Given the description of an element on the screen output the (x, y) to click on. 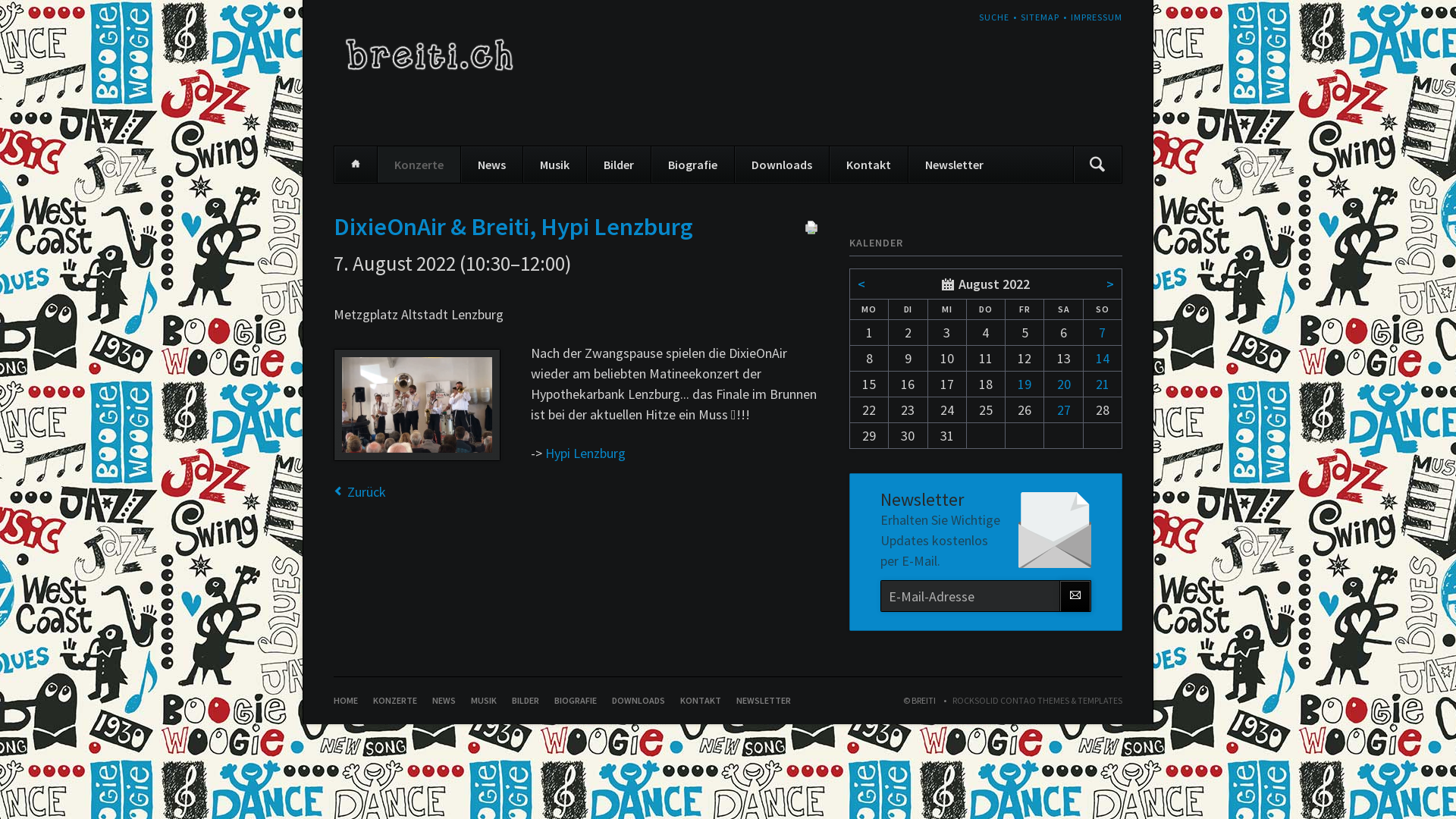
Diese Seite drucken Element type: hover (811, 229)
HOME Element type: text (345, 700)
KONTAKT Element type: text (700, 700)
Hypi Lenzburg Element type: text (585, 452)
7 Element type: text (1101, 332)
< Element type: text (861, 283)
Kontakt Element type: text (867, 164)
19 Element type: text (1024, 383)
Bilder Element type: text (618, 164)
MUSIK Element type: text (483, 700)
KONZERTE Element type: text (395, 700)
Suchen Element type: text (1097, 164)
Musik Element type: text (554, 164)
NEWS Element type: text (443, 700)
News Element type: text (491, 164)
BILDER Element type: text (525, 700)
27 Element type: text (1063, 409)
DOWNLOADS Element type: text (638, 700)
Home Element type: hover (355, 164)
Konzerte Element type: text (418, 164)
BIOGRAFIE Element type: text (575, 700)
SUCHE Element type: text (994, 16)
> Element type: text (1109, 283)
IMPRESSUM Element type: text (1096, 16)
SITEMAP Element type: text (1039, 16)
20 Element type: text (1063, 383)
DixieOnAir & Breiti, Hypi Lenzburg Element type: hover (417, 404)
21 Element type: text (1102, 383)
Newsletter Element type: text (953, 164)
Abonnieren Element type: text (1075, 595)
  Element type: text (1121, 9)
ROCKSOLID CONTAO THEMES & TEMPLATES Element type: text (1029, 700)
NEWSLETTER Element type: text (763, 700)
Biografie Element type: text (692, 164)
  Element type: text (332, 706)
Downloads Element type: text (781, 164)
14 Element type: text (1102, 358)
